Given the description of an element on the screen output the (x, y) to click on. 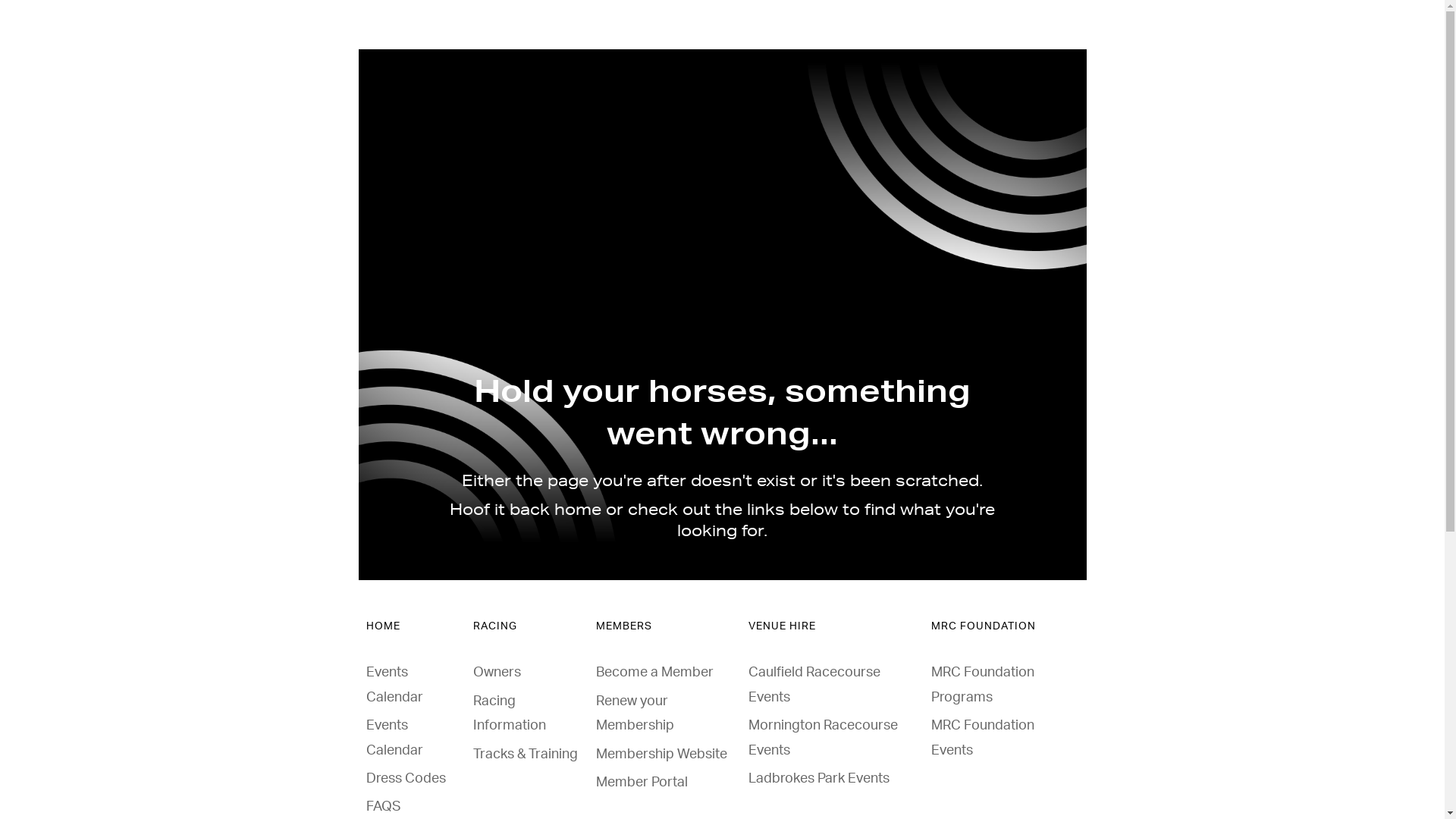
Racing Information Element type: text (509, 713)
Owners Element type: text (496, 672)
Become a Member Element type: text (654, 672)
FAQS Element type: text (382, 806)
Caulfield Racecourse Events Element type: text (814, 684)
MRC Foundation Programs Element type: text (982, 684)
Membership Website Element type: text (661, 754)
MRC FOUNDATION Element type: text (983, 626)
VENUE HIRE Element type: text (781, 626)
Ladbrokes Park Events Element type: text (818, 778)
MEMBERS Element type: text (624, 626)
Tracks & Training Element type: text (525, 754)
Mornington Racecourse Events Element type: text (822, 737)
Member Portal Element type: text (641, 782)
Events Calendar Element type: text (393, 684)
RACING Element type: text (495, 626)
Events Calendar Element type: text (393, 737)
HOME Element type: text (382, 626)
MRC Foundation Events Element type: text (982, 737)
Dress Codes Element type: text (405, 778)
Renew your Membership Element type: text (635, 713)
